Given the description of an element on the screen output the (x, y) to click on. 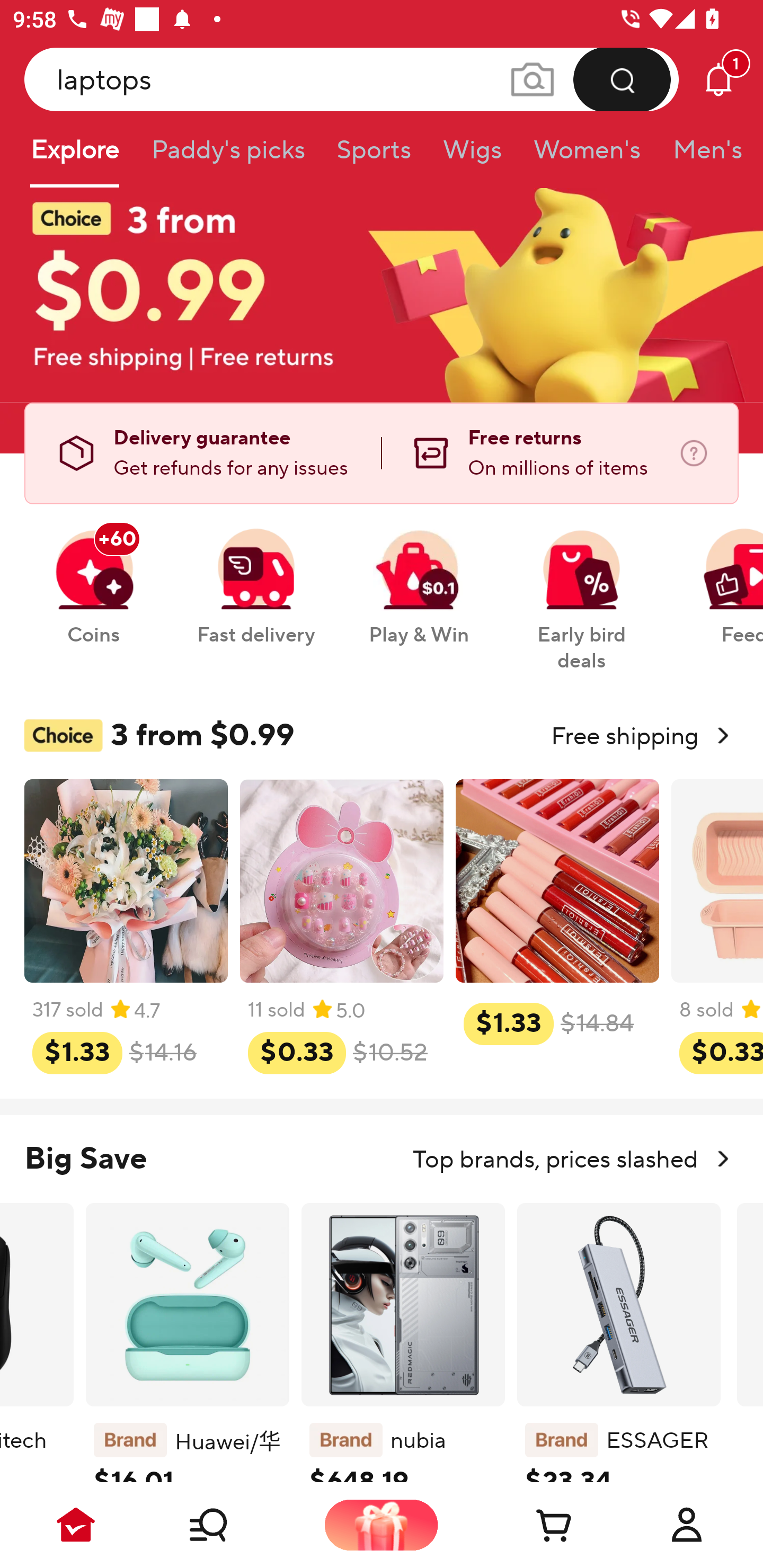
laptops (351, 79)
Paddy's picks (227, 155)
Sports (373, 155)
Wigs (472, 155)
Women's (586, 155)
Men's (701, 155)
Coinsbutton +60 Coins (93, 576)
Fast deliverybutton Fast delivery (255, 576)
Play & Winbutton Play & Win (418, 576)
Early bird dealsbutton Early bird deals (581, 589)
Feedbutton Feed (719, 576)
Shop (228, 1524)
Cart (533, 1524)
Account (686, 1524)
